Given the description of an element on the screen output the (x, y) to click on. 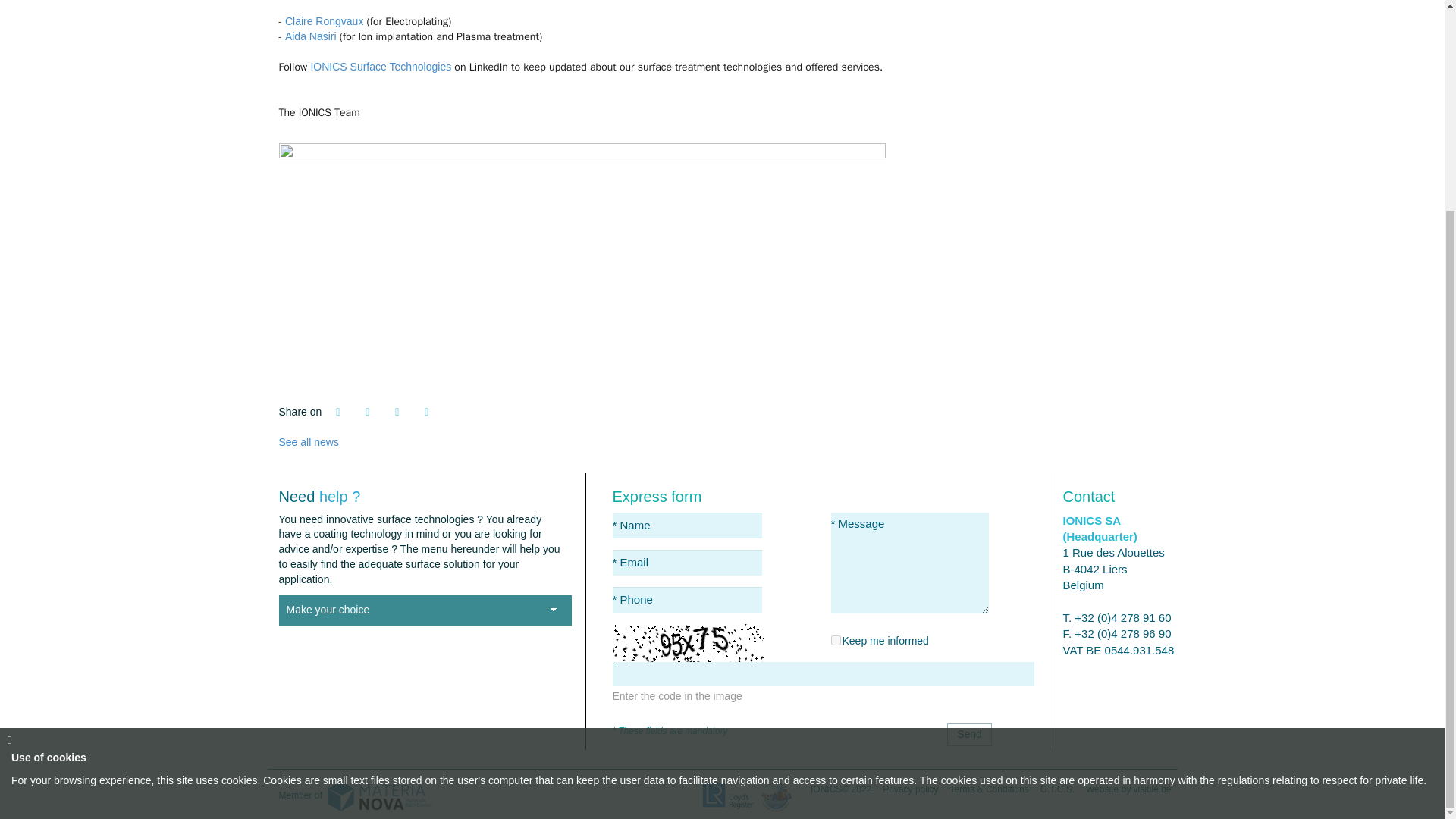
Make your choice (425, 610)
Send (969, 734)
These field cannot be empty (686, 524)
Enter a valide email adress (686, 562)
Claire Rongvaux (324, 21)
These field cannot be empty (909, 561)
IONICS Surface Technologies (380, 66)
These field cannot be empty (686, 598)
1 (836, 640)
Aida Nasiri (310, 36)
See all news (309, 441)
